Given the description of an element on the screen output the (x, y) to click on. 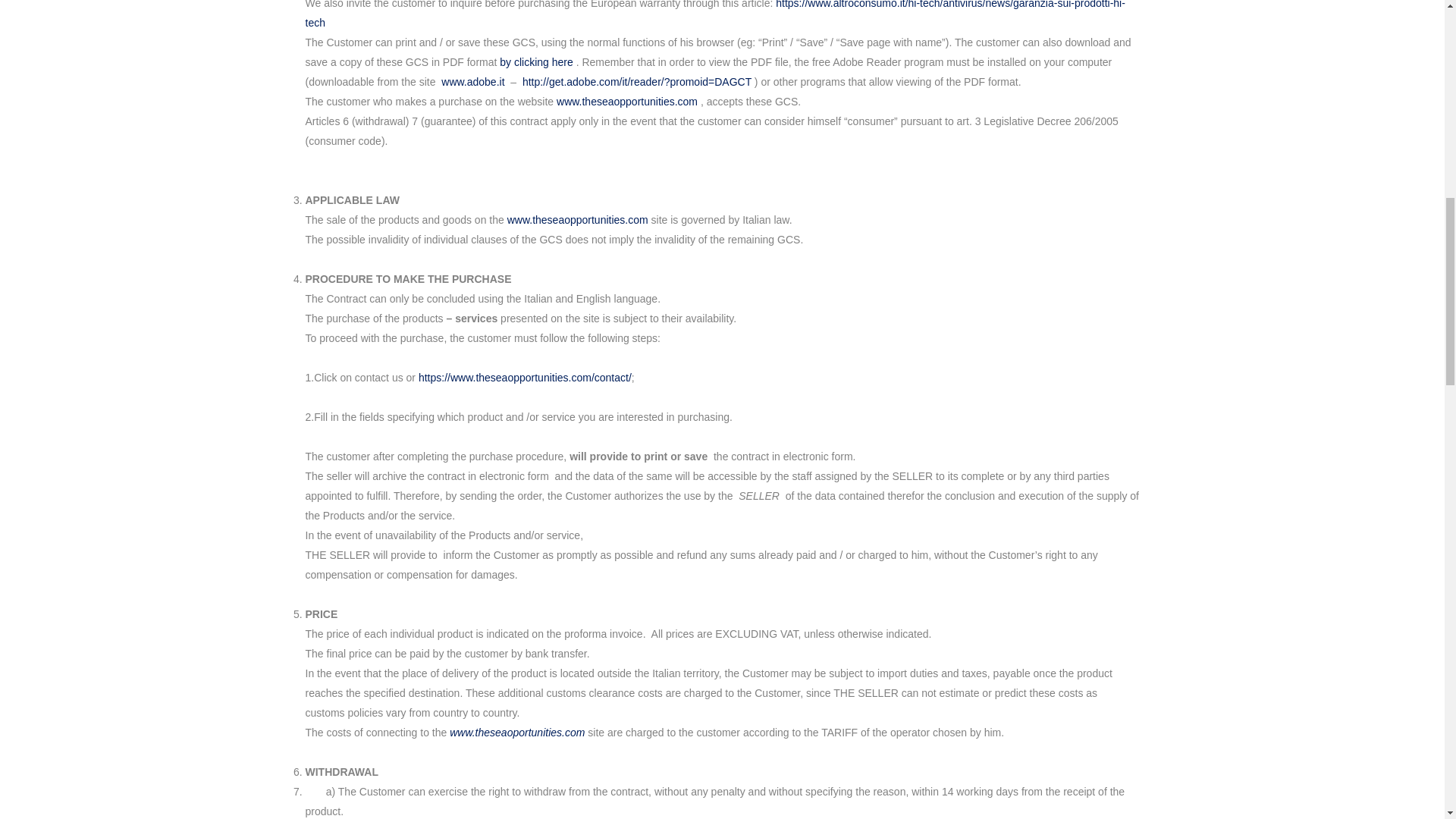
www.theseaopportunities.com (576, 219)
www.adobe.it (472, 81)
www.theseaopportunities.com (626, 101)
by clicking here (536, 61)
www.theseaoportunities.com (517, 732)
